Given the description of an element on the screen output the (x, y) to click on. 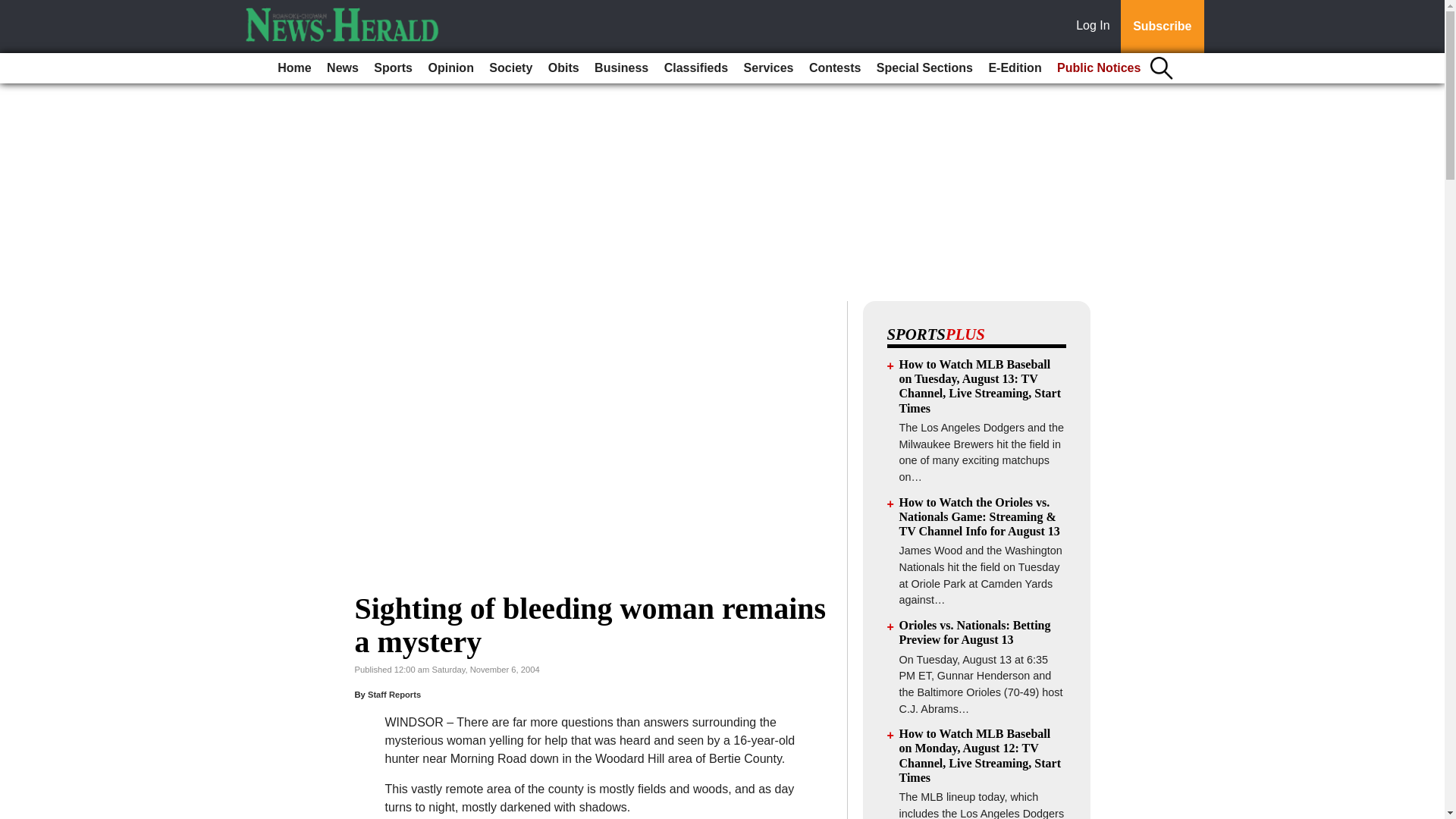
Services (768, 68)
Home (293, 68)
Public Notices (1099, 68)
Staff Reports (394, 694)
Sports (393, 68)
Contests (834, 68)
Log In (1095, 26)
Classifieds (695, 68)
Society (510, 68)
